Given the description of an element on the screen output the (x, y) to click on. 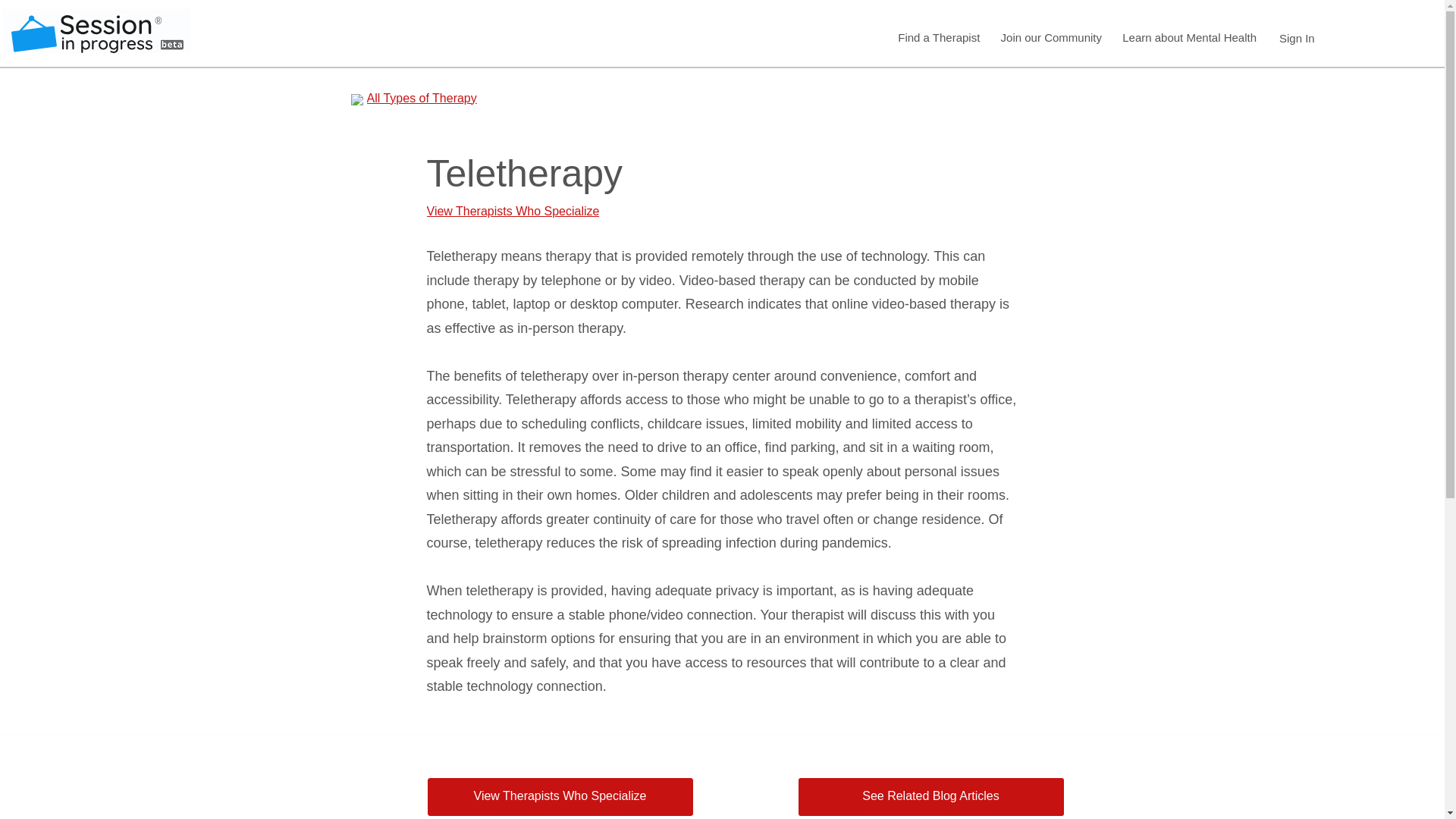
View Therapists Who Specialize (560, 796)
All Types of Therapy (447, 98)
Site is in beta (171, 44)
Learn about Mental Health (1189, 37)
Sign In (1296, 37)
View Therapists Who Specialize (555, 211)
Join our Community (1050, 37)
See Related Blog Articles (929, 796)
Find a Therapist (938, 37)
